Given the description of an element on the screen output the (x, y) to click on. 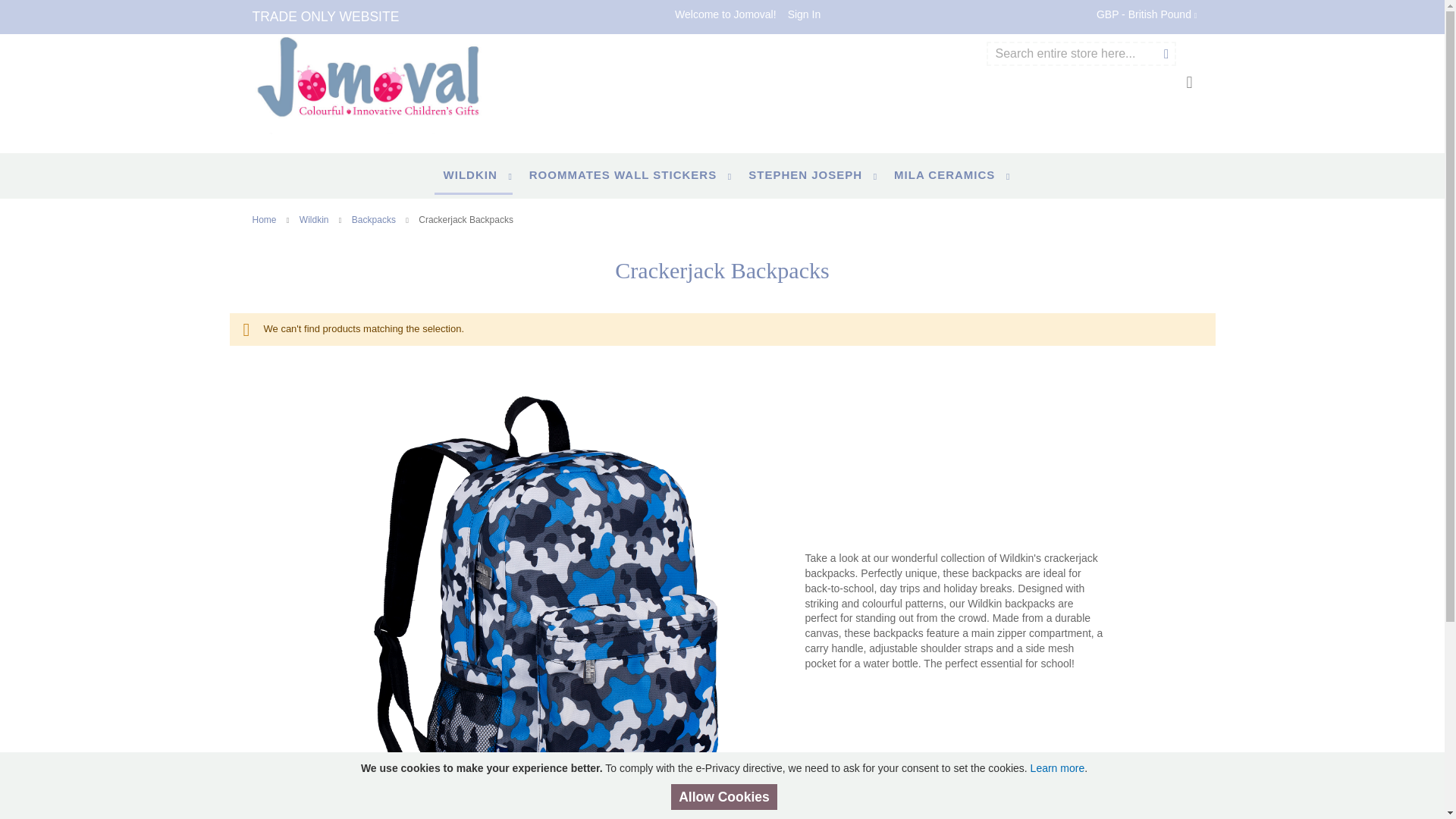
Go to Home Page (264, 219)
Learn more (1057, 767)
Allow Cookies (724, 796)
ROOMMATES WALL STICKERS (625, 174)
WILDKIN (472, 175)
Sign In (804, 14)
